Given the description of an element on the screen output the (x, y) to click on. 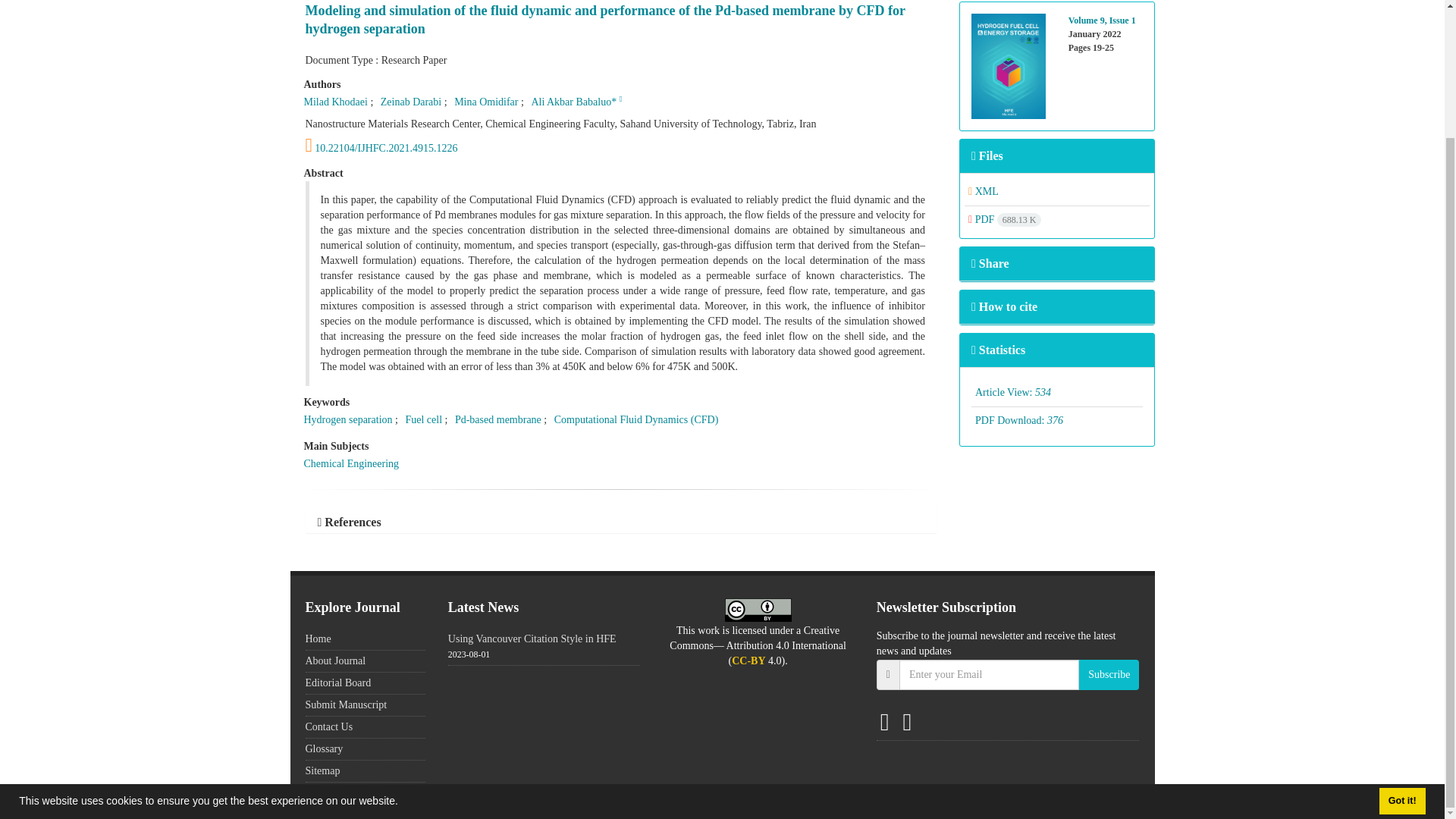
Got it! (1401, 646)
Zeinab Darabi (410, 101)
Hydrogen separation (346, 419)
Milad Khodaei (334, 101)
DOI (620, 145)
Fuel cell (423, 419)
Mina Omidifar (486, 101)
